Given the description of an element on the screen output the (x, y) to click on. 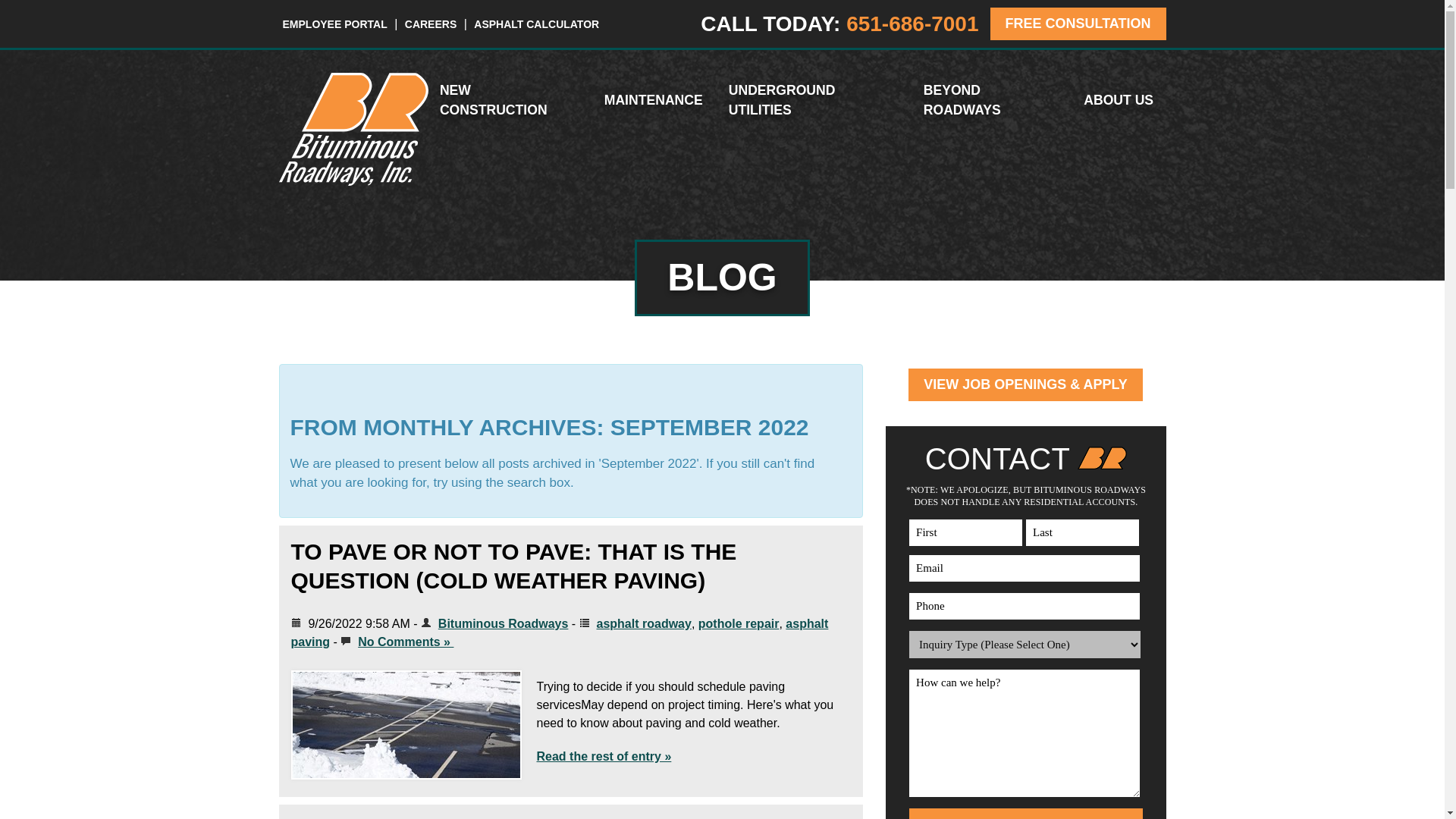
Employee Portal (335, 23)
651-686-7001 (911, 24)
Bituminous Roadways (353, 181)
NEW CONSTRUCTION (510, 99)
Asphalt Calculator (536, 23)
BEYOND ROADWAYS (991, 99)
UNDERGROUND UTILITIES (814, 99)
Bituminous Roadways (353, 128)
ABOUT US (1118, 99)
New Construction (510, 99)
